Given the description of an element on the screen output the (x, y) to click on. 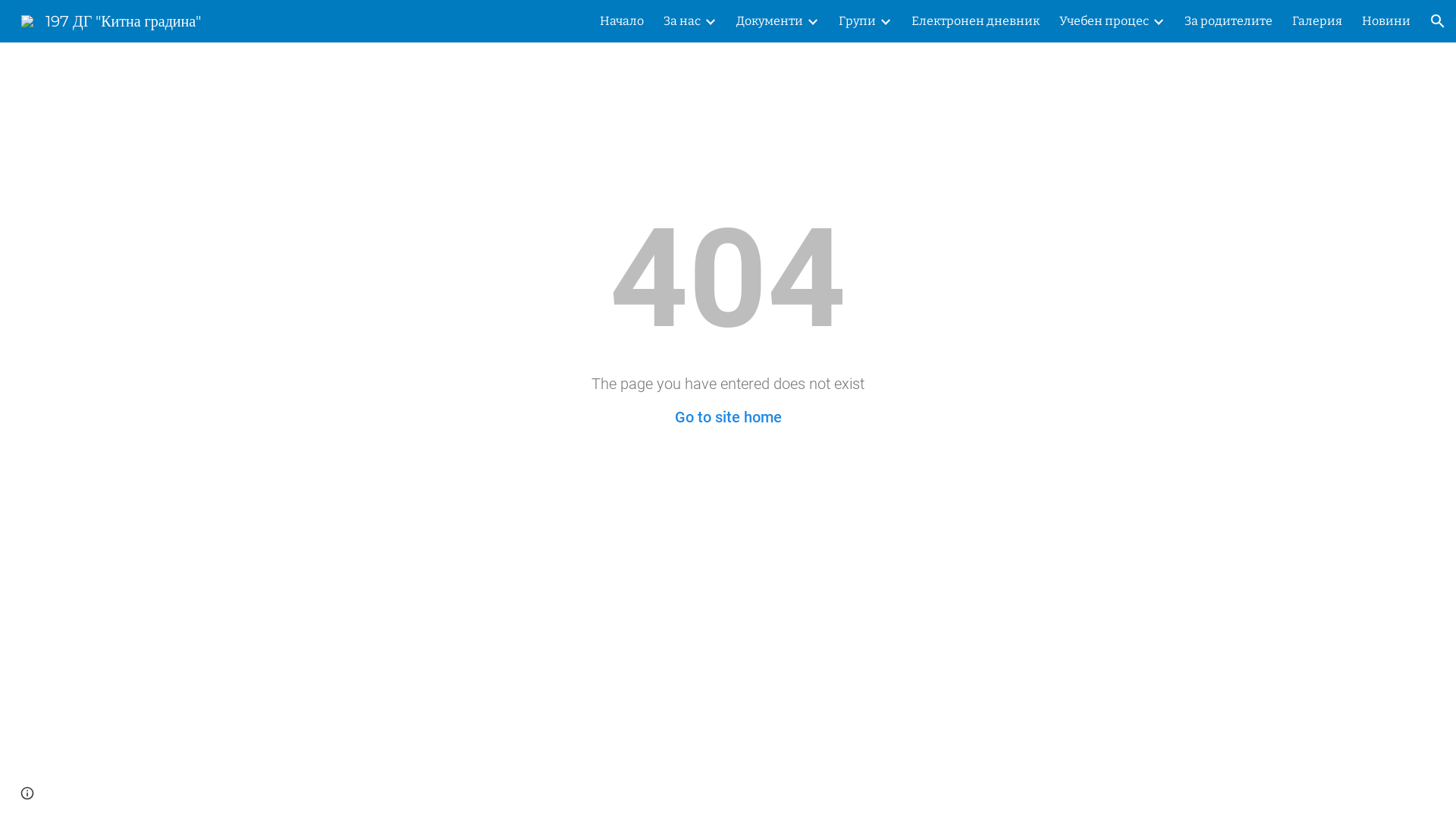
Expand/Collapse Element type: hover (884, 20)
Expand/Collapse Element type: hover (709, 20)
Go to site home Element type: text (727, 416)
Expand/Collapse Element type: hover (812, 20)
Expand/Collapse Element type: hover (1157, 20)
